Given the description of an element on the screen output the (x, y) to click on. 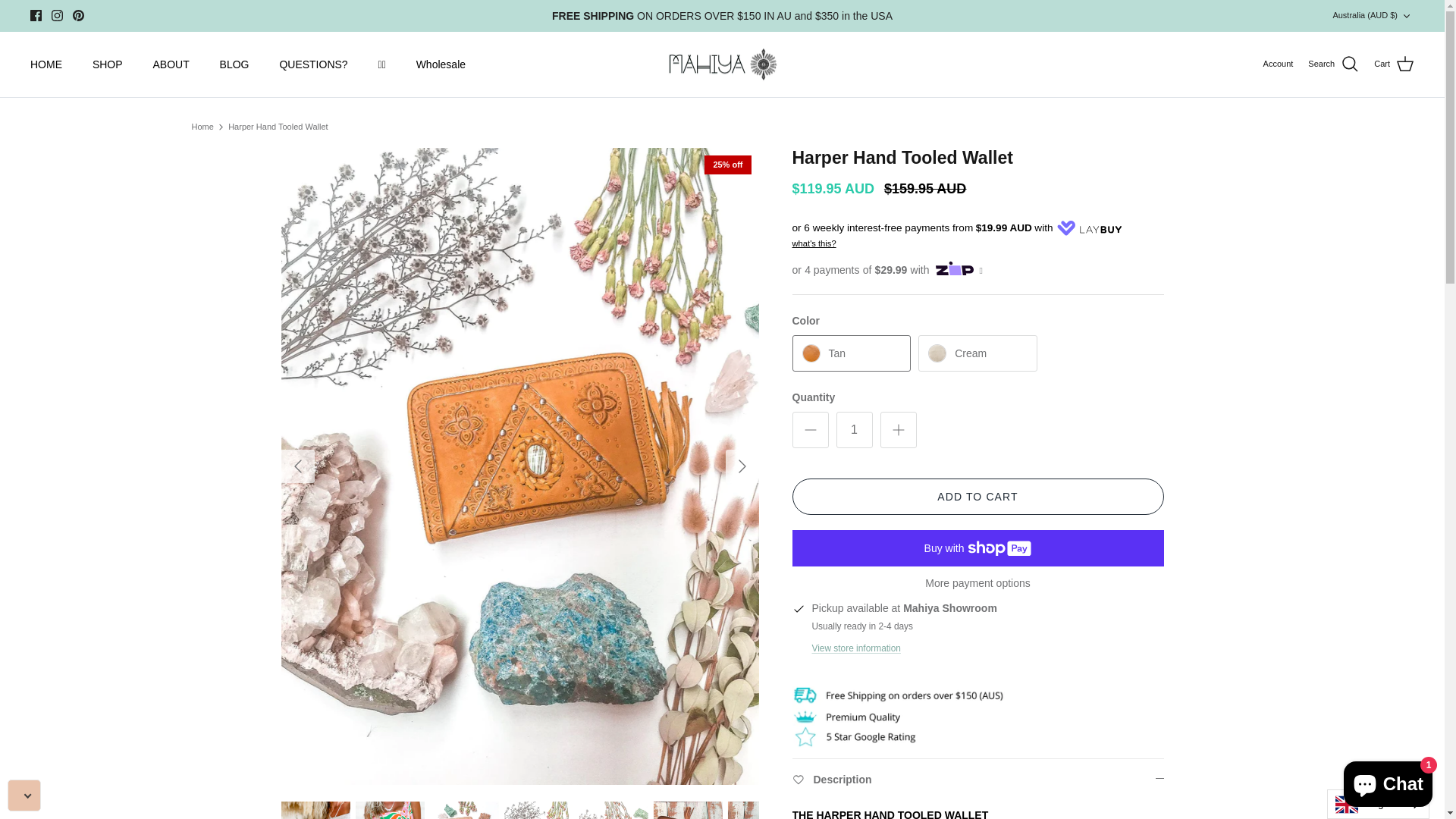
QUESTIONS? Element type: text (312, 64)
RIGHT Element type: text (741, 466)
Mahiya Element type: hover (722, 64)
ABOUT Element type: text (170, 64)
LEFT Element type: text (296, 466)
Shopify online store chat Element type: hover (1388, 780)
Account Element type: text (1278, 64)
ADD TO CART Element type: text (977, 495)
English Element type: text (1377, 804)
More payment options Element type: text (977, 582)
Harper Hand Tooled Wallet Element type: text (277, 126)
Cart Element type: text (1394, 64)
Wholesale Element type: text (440, 64)
Plus Element type: text (897, 429)
Home Element type: text (202, 126)
BLOG Element type: text (234, 64)
what's this? Element type: text (813, 243)
View store information Element type: text (855, 647)
HOME Element type: text (45, 64)
SHOP Element type: text (107, 64)
Pinterest Element type: text (78, 15)
Instagram Element type: text (56, 15)
Facebook Element type: text (35, 15)
Minus Element type: text (809, 429)
Search Element type: text (1333, 64)
Australia (AUD $)
Down Element type: text (1373, 15)
